Given the description of an element on the screen output the (x, y) to click on. 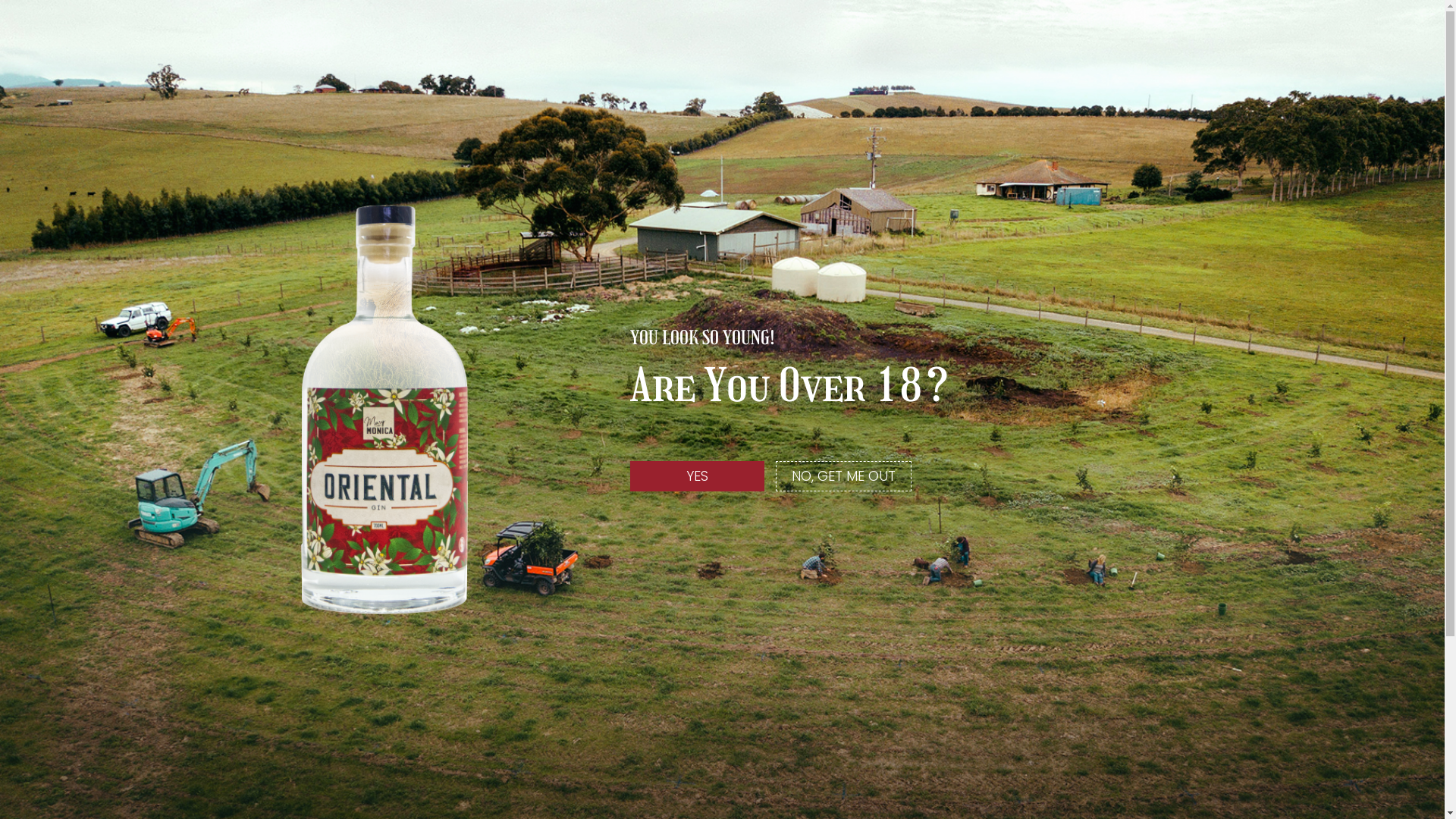
CONTACT Element type: text (930, 124)
SHOP Element type: text (844, 124)
$0.00 Element type: text (584, 47)
HOME Element type: text (507, 124)
NO, GET ME OUT Element type: text (843, 476)
CHECKOUT Element type: text (868, 47)
ABOUT Element type: text (588, 124)
info@marymonica.com.au Element type: text (314, 565)
YES Element type: text (697, 476)
